Given the description of an element on the screen output the (x, y) to click on. 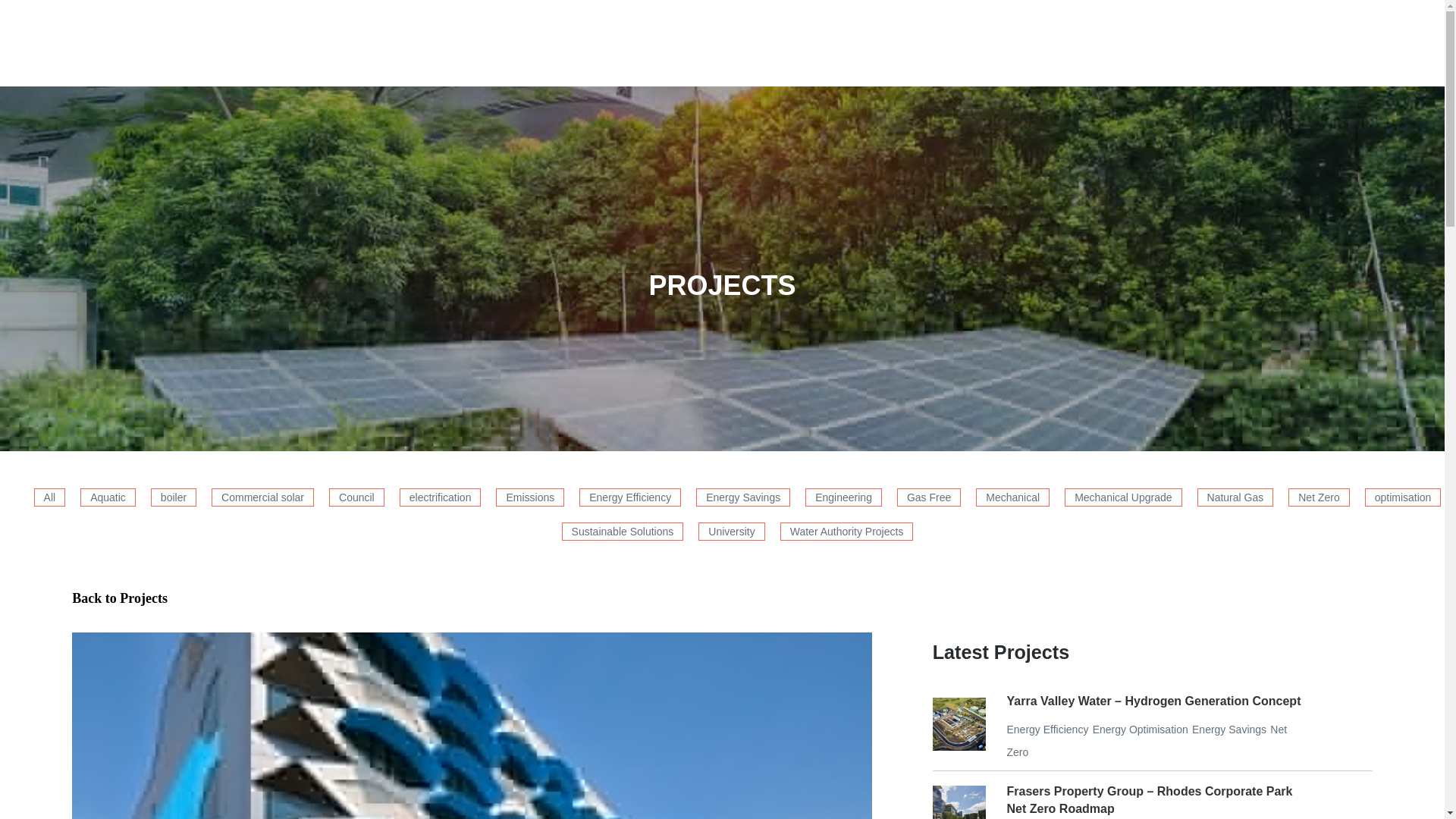
Energy Savings (742, 497)
net-zero (1146, 740)
Mechanical (1012, 497)
boiler (173, 497)
WHAT WE DO (700, 33)
Water Authority Projects (847, 531)
optimisation (1403, 497)
PROJECTS (789, 33)
All (49, 497)
Back to Projects (119, 598)
